Given the description of an element on the screen output the (x, y) to click on. 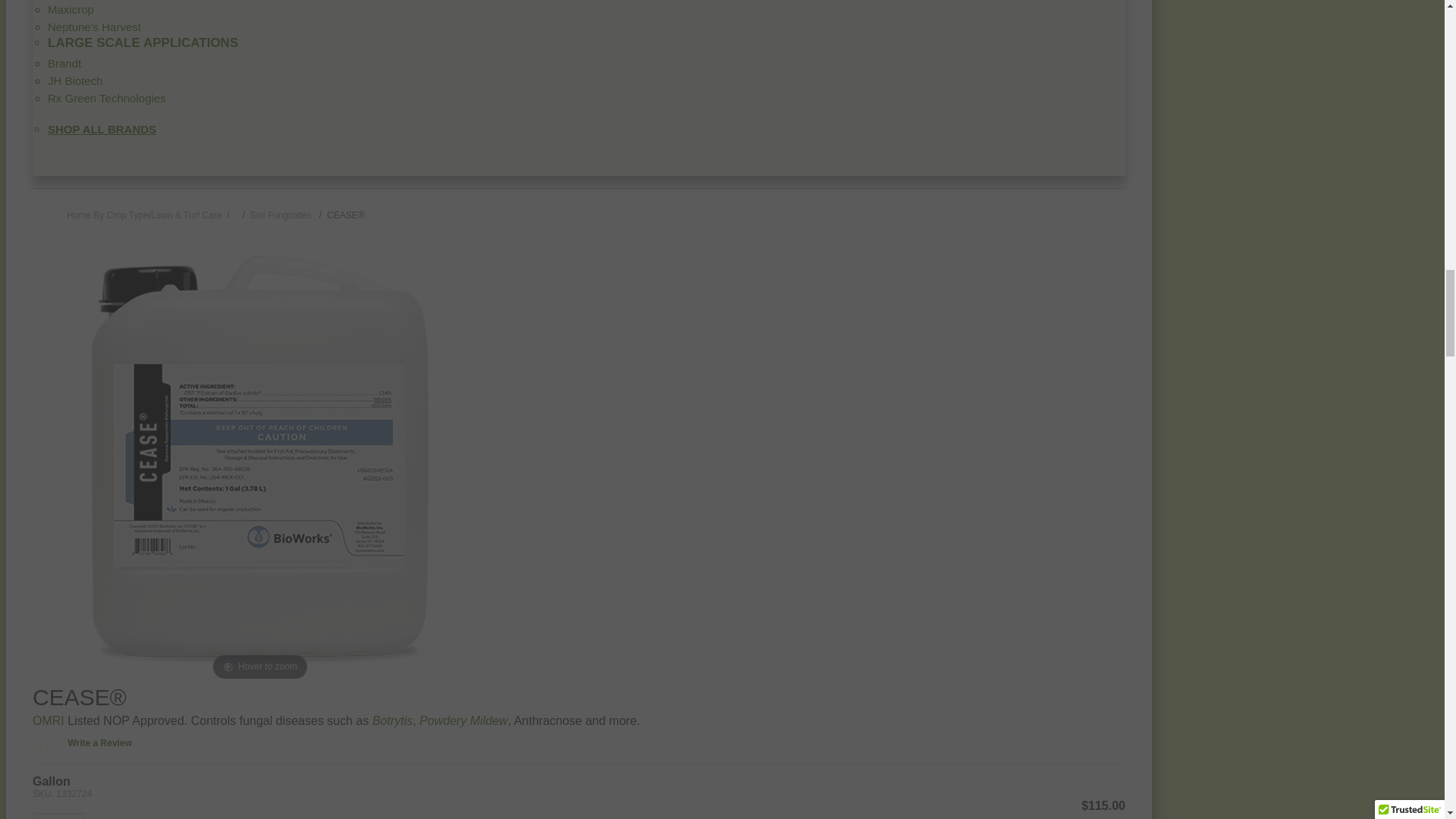
1 (58, 816)
